Given the description of an element on the screen output the (x, y) to click on. 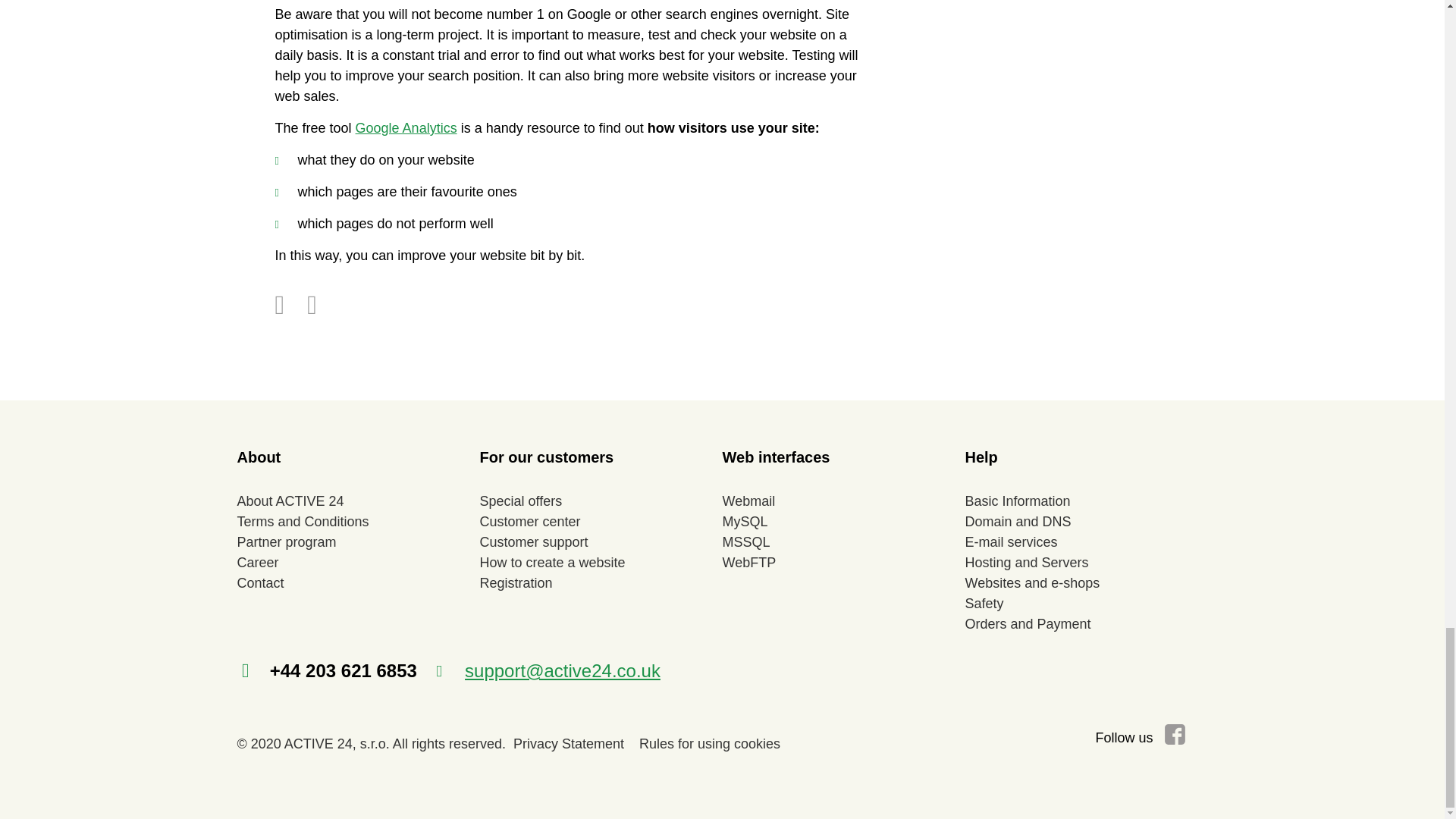
Google Analytics (406, 127)
